Given the description of an element on the screen output the (x, y) to click on. 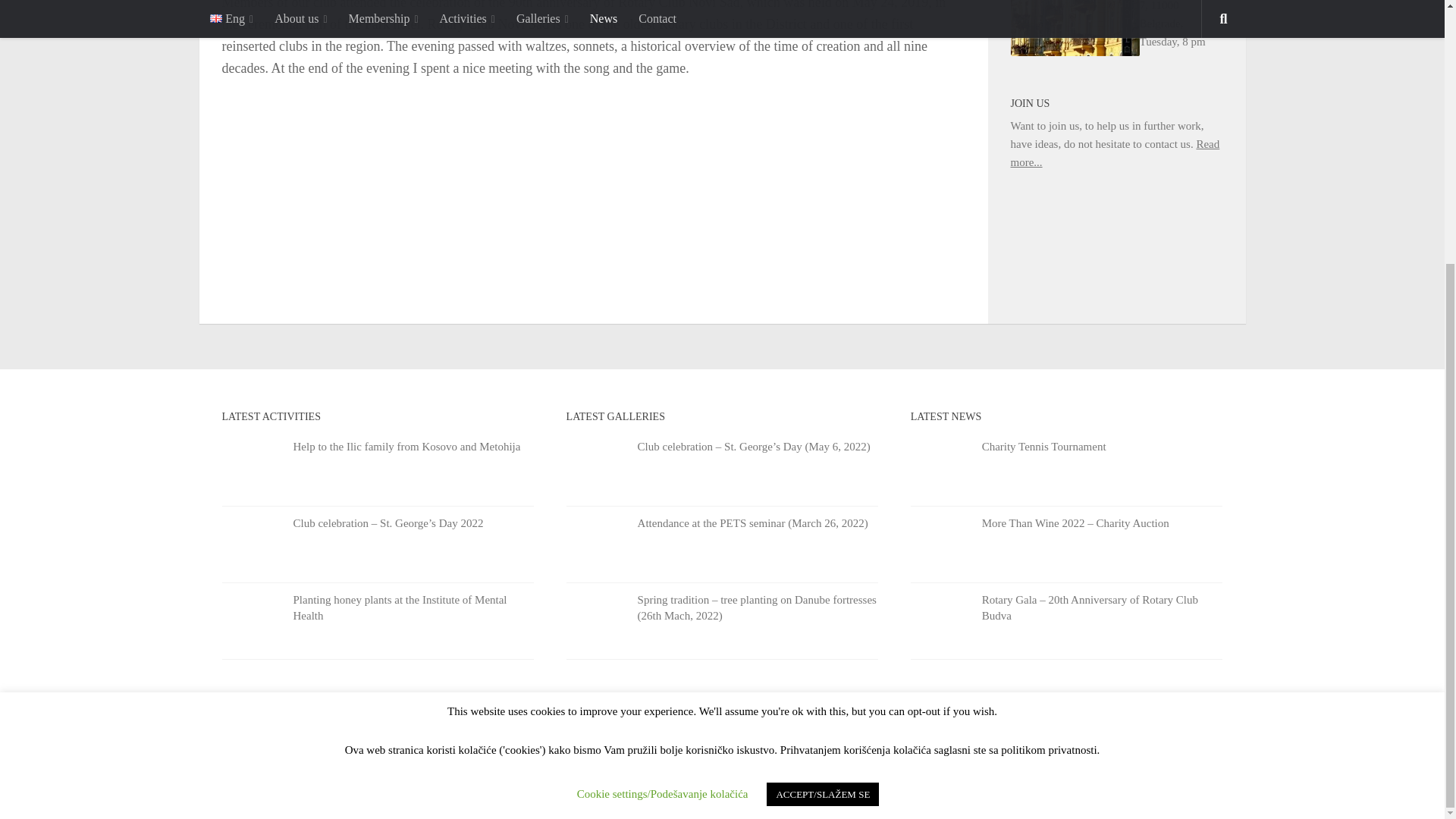
Follow us on Facebook (1212, 780)
Follow us on Instagram (1184, 780)
